Given the description of an element on the screen output the (x, y) to click on. 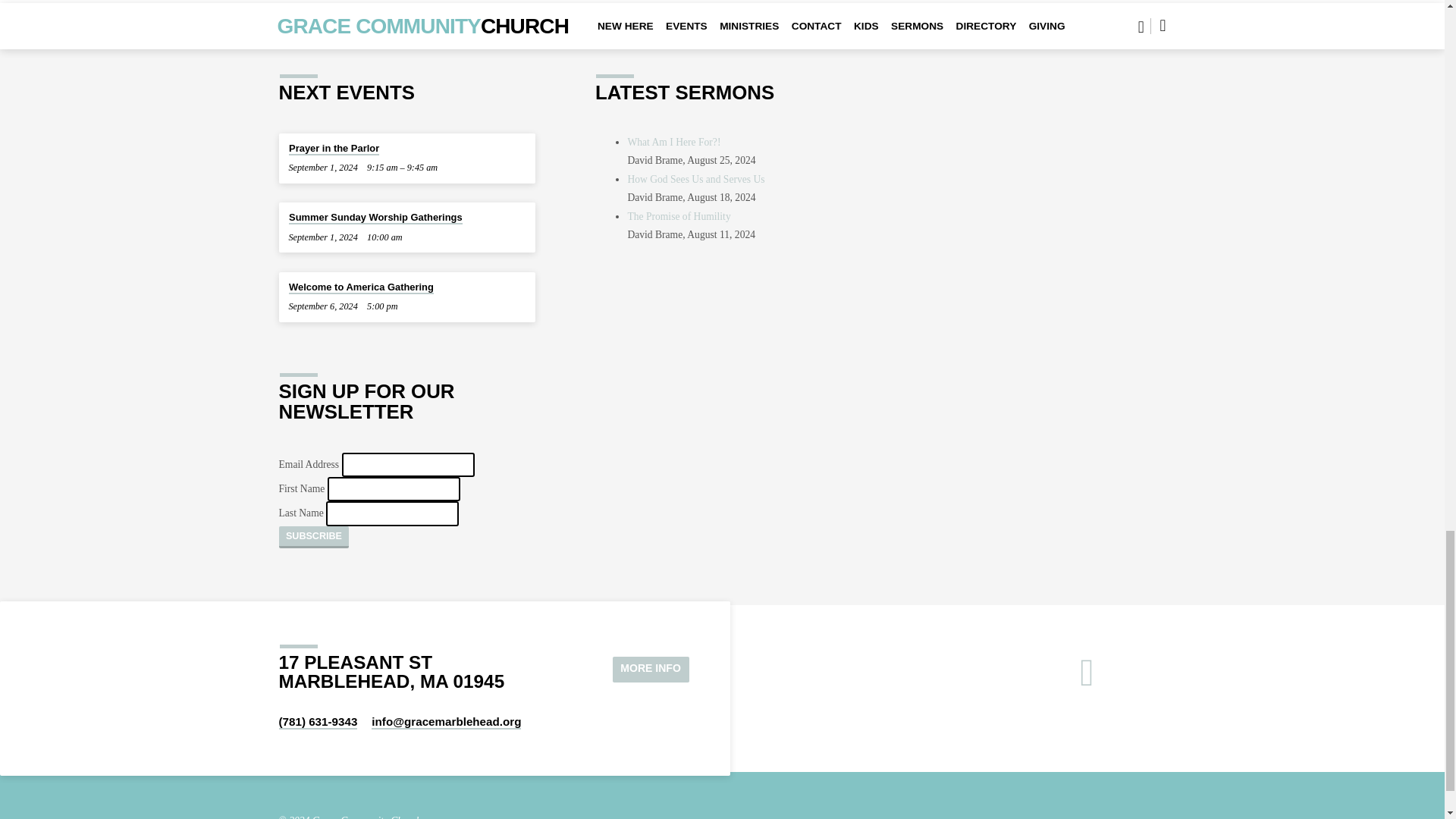
The Promise of Humility (678, 215)
Summer Sunday Worship Gatherings (375, 217)
What Am I Here For?! (673, 142)
Subscribe (314, 537)
How God Sees Us and Serves Us (695, 179)
Welcome to America Gathering (360, 287)
Prayer in the Parlor (333, 148)
